Given the description of an element on the screen output the (x, y) to click on. 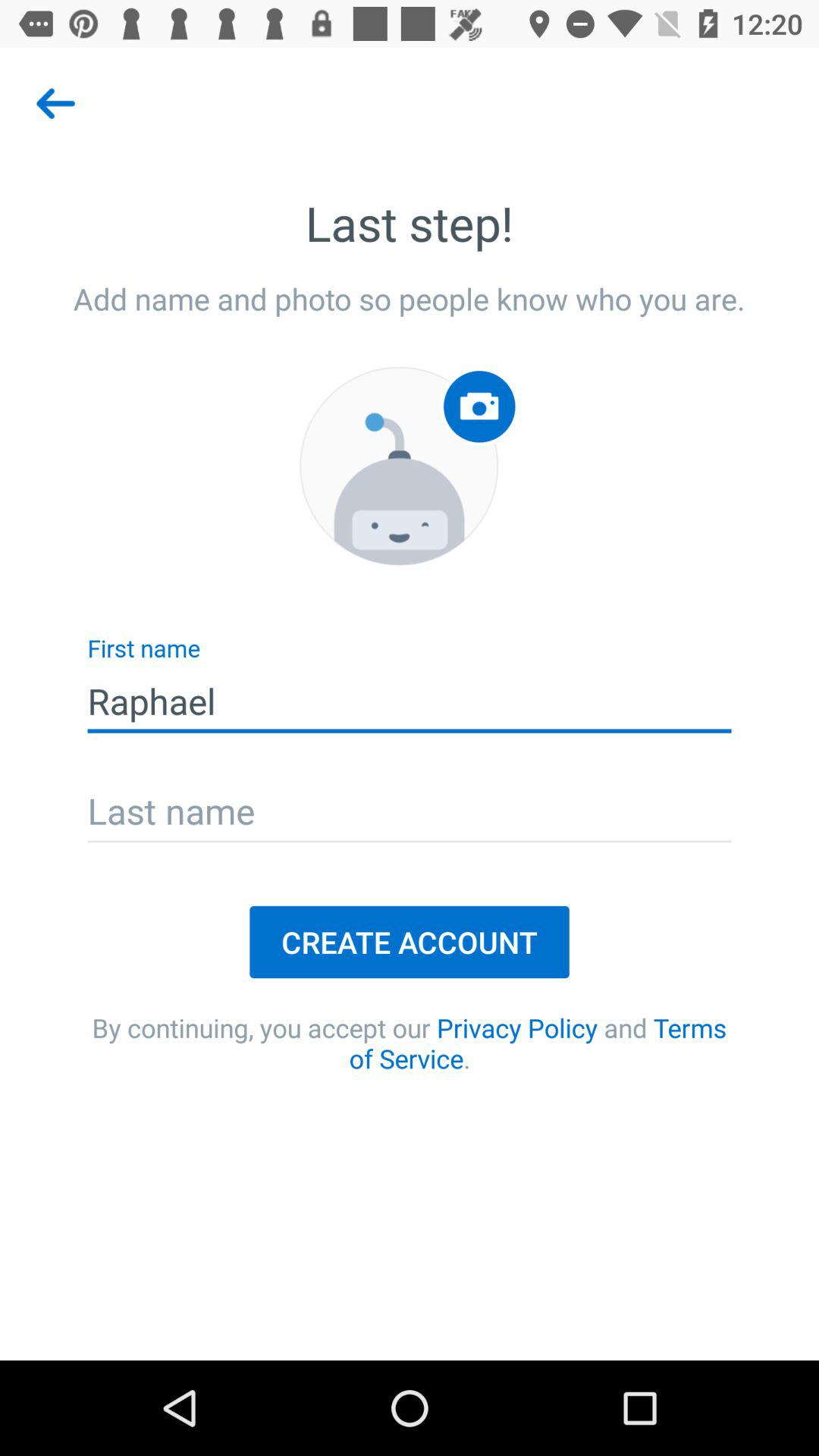
select icon at the top left corner (55, 103)
